Given the description of an element on the screen output the (x, y) to click on. 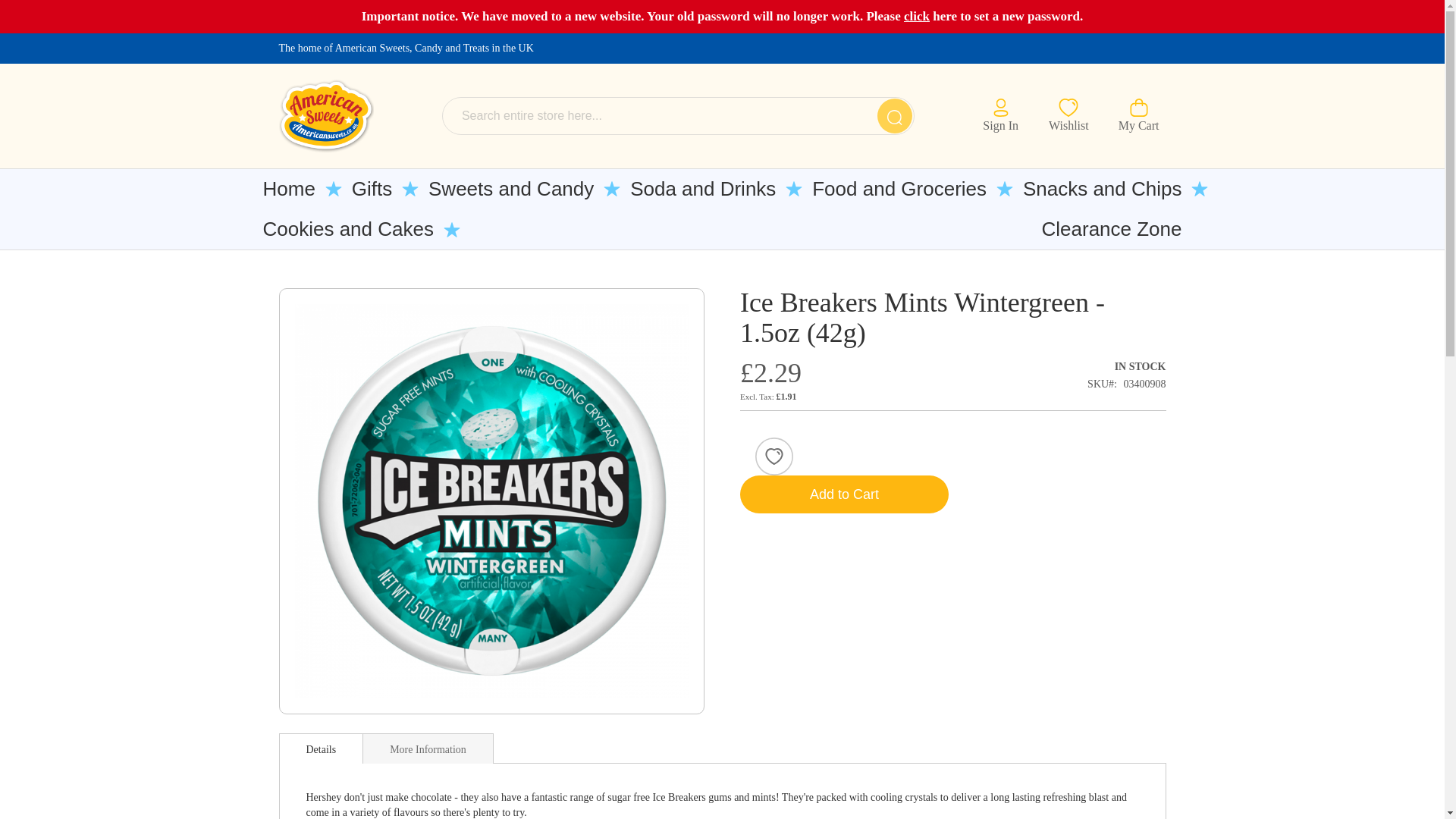
My Cart (1138, 116)
Sign In (999, 114)
click (917, 16)
Wishlist (1068, 114)
